Given the description of an element on the screen output the (x, y) to click on. 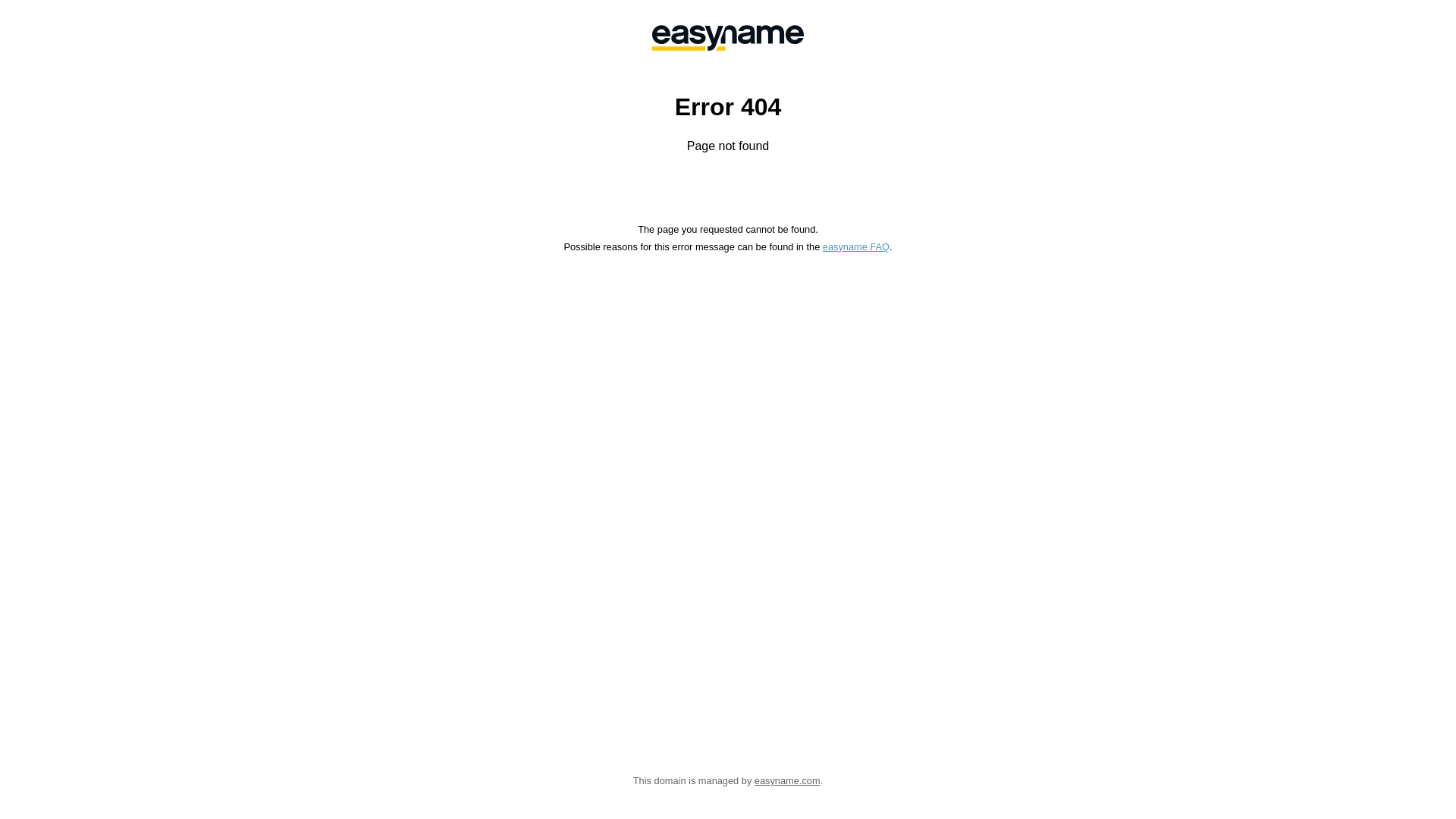
easyname.com Element type: text (787, 780)
easyname GmbH Element type: hover (727, 37)
easyname FAQ Element type: text (855, 246)
